Given the description of an element on the screen output the (x, y) to click on. 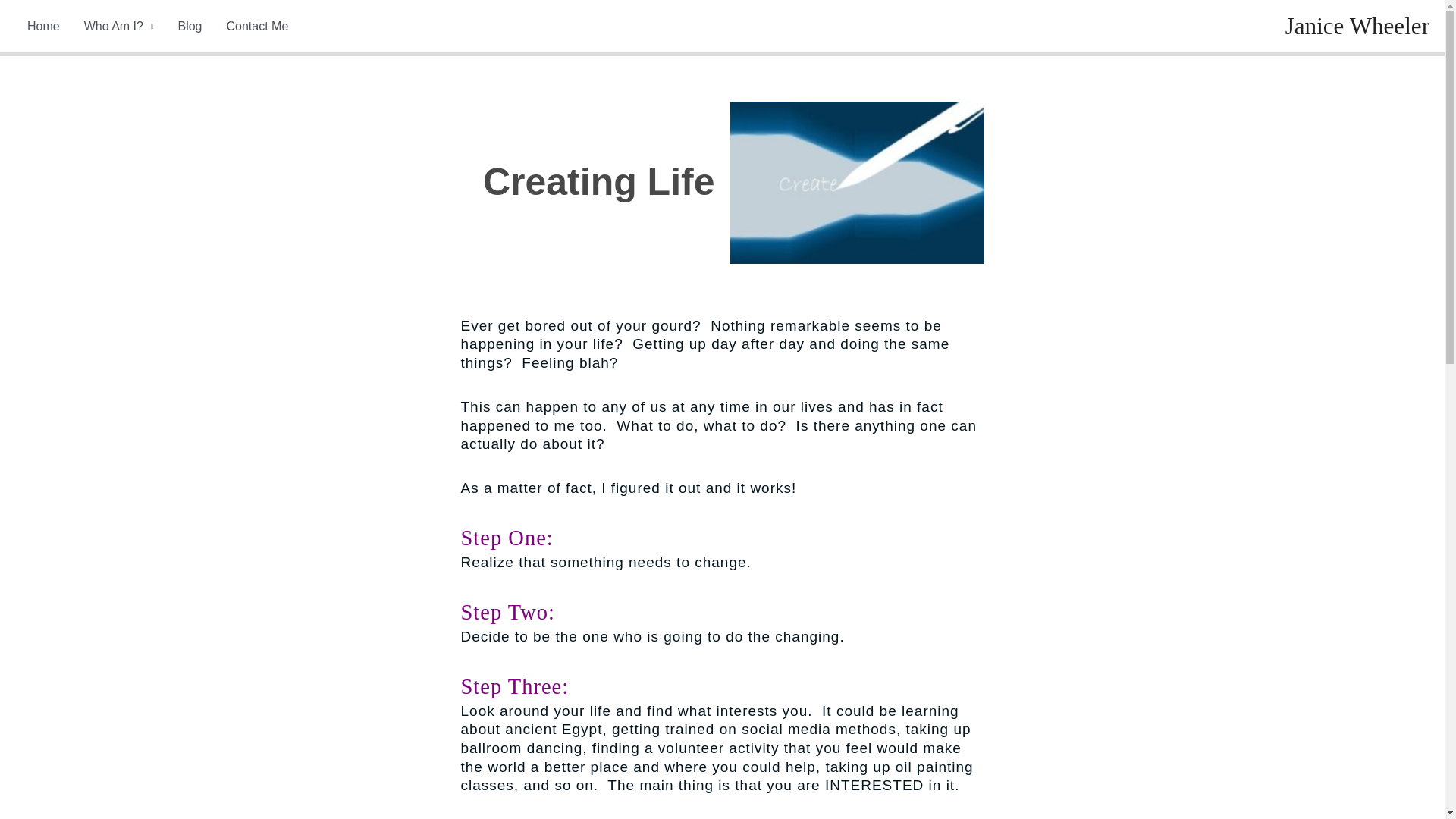
Janice Wheeler (1357, 26)
Blog (189, 26)
Home (42, 26)
Who Am I? (118, 26)
Contact Me (256, 26)
